Given the description of an element on the screen output the (x, y) to click on. 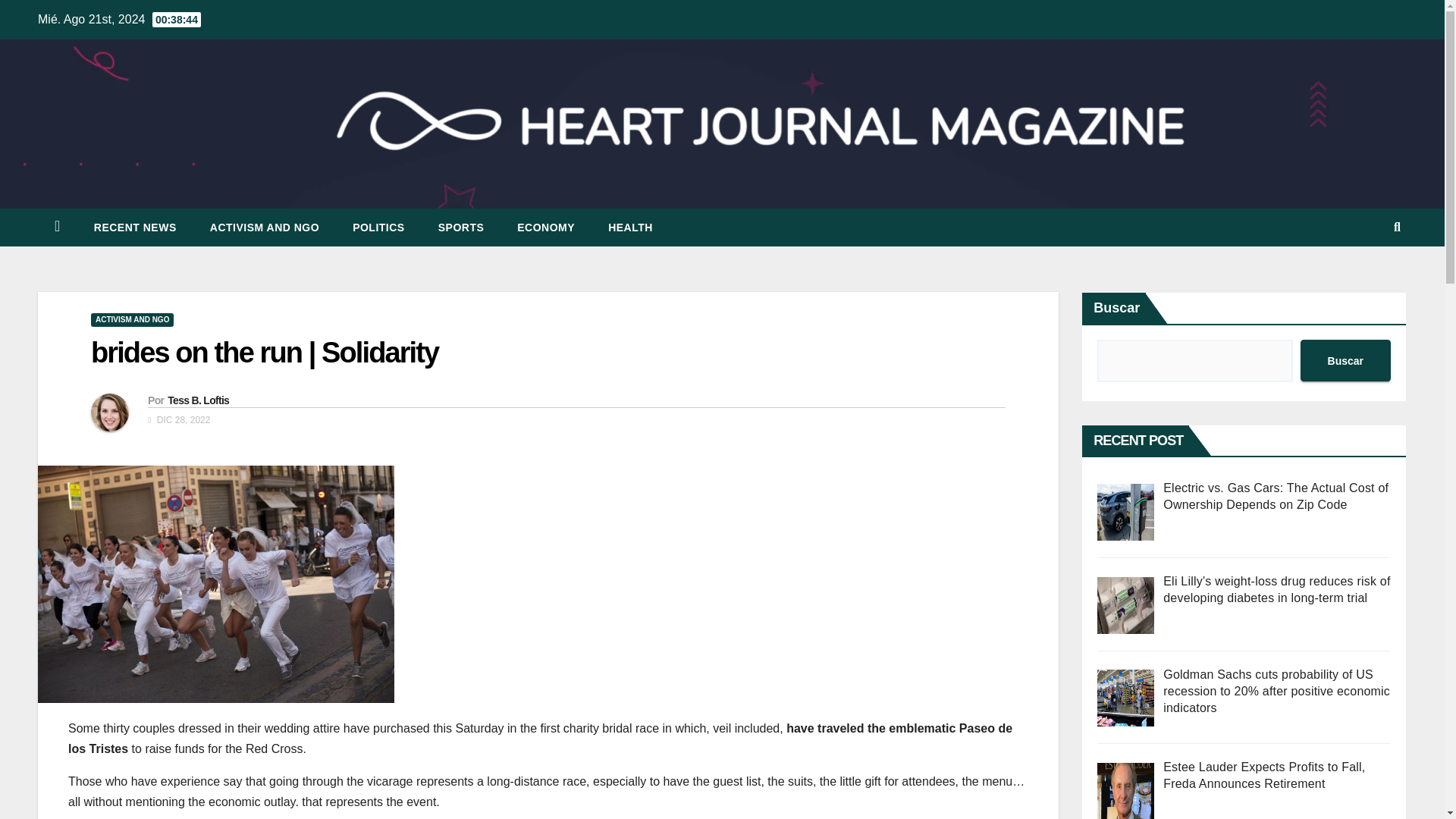
Buscar (1345, 360)
Sports (461, 227)
SPORTS (461, 227)
Politics (379, 227)
POLITICS (379, 227)
Recent news (135, 227)
ECONOMY (545, 227)
RECENT NEWS (135, 227)
ACTIVISM AND NGO (264, 227)
Activism and NGO (264, 227)
